Given the description of an element on the screen output the (x, y) to click on. 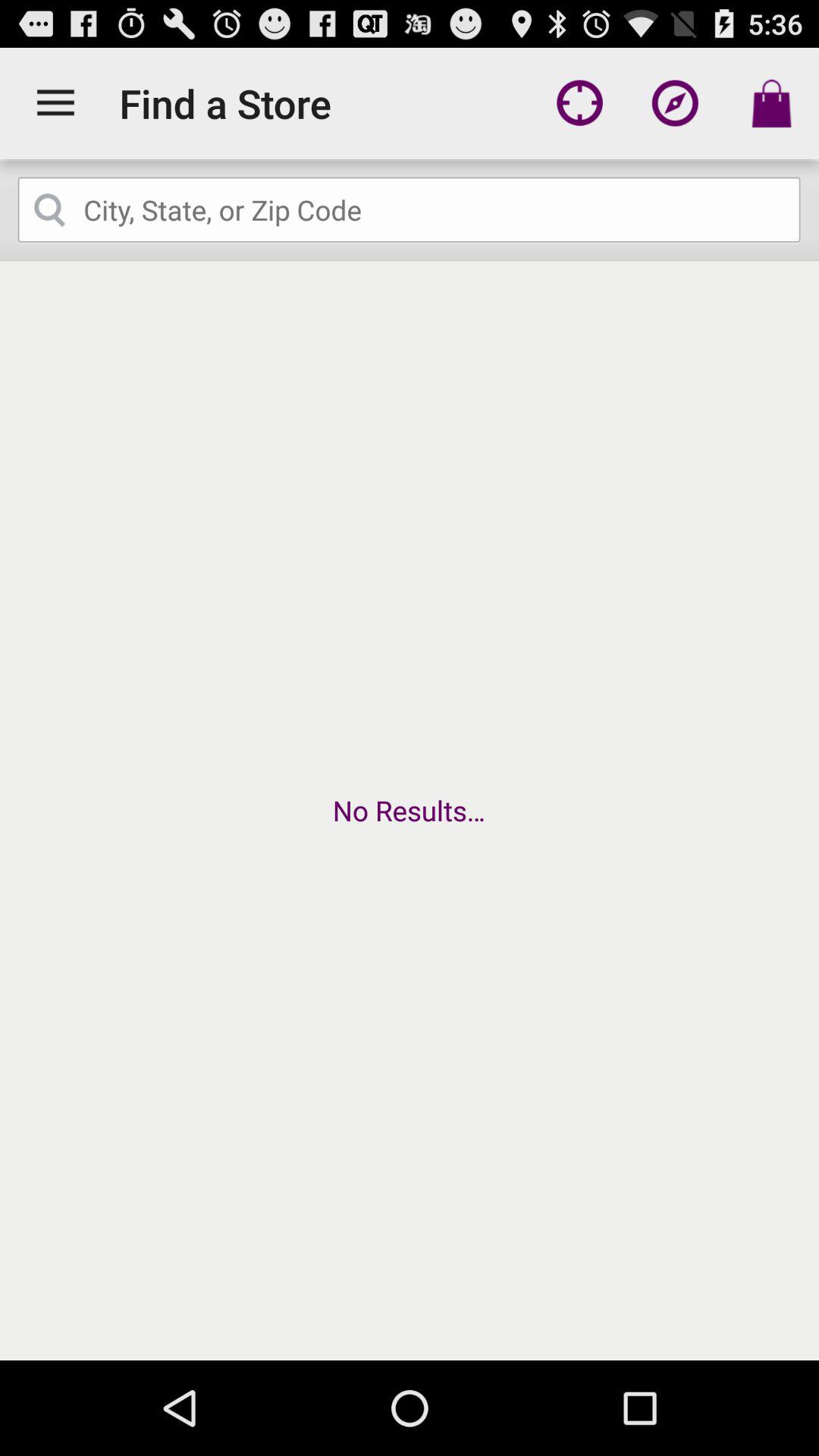
enter a location (409, 210)
